Given the description of an element on the screen output the (x, y) to click on. 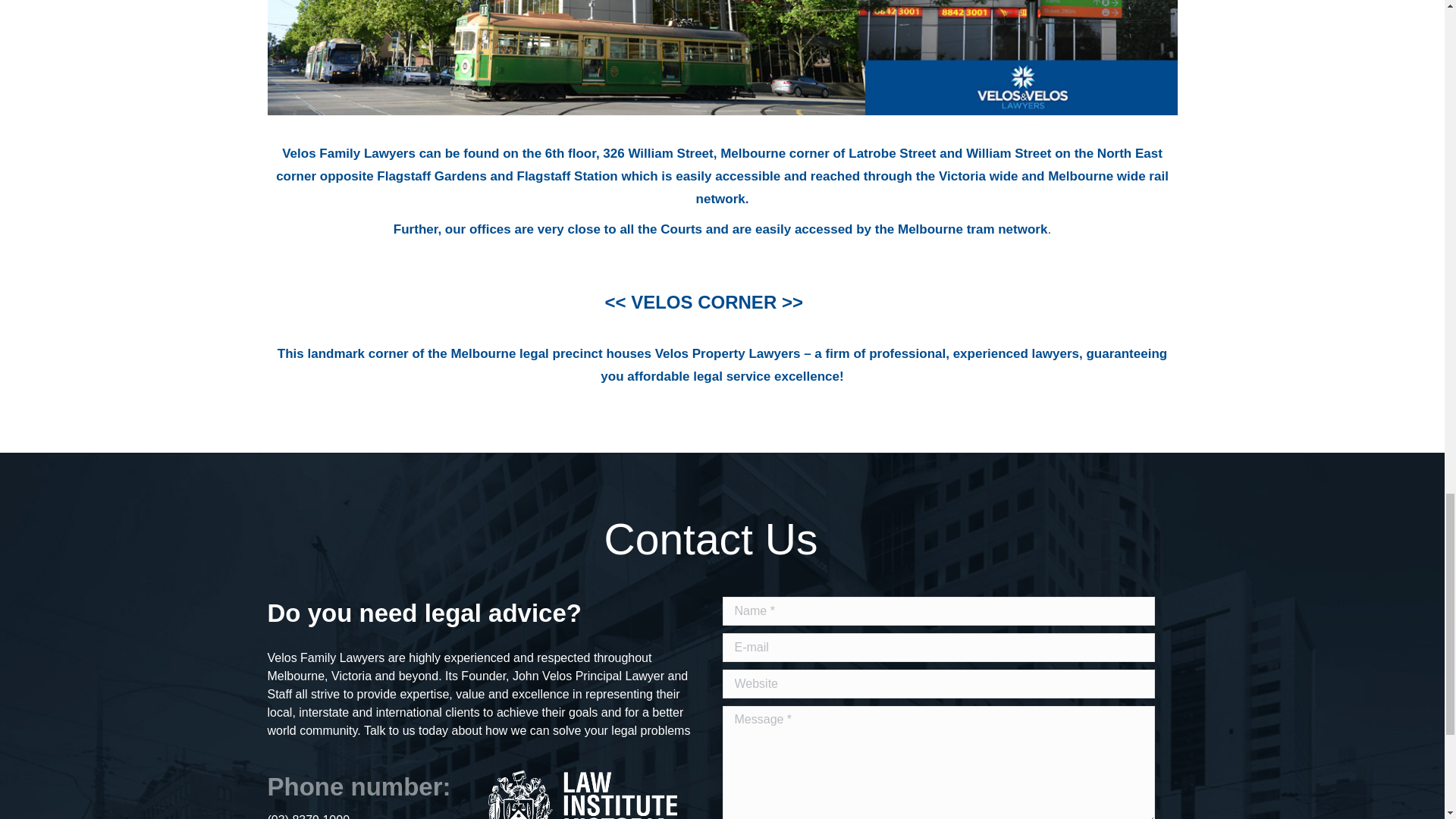
veloscorner (721, 57)
law-institute-victoria-white-logo-no-date (580, 794)
